Given the description of an element on the screen output the (x, y) to click on. 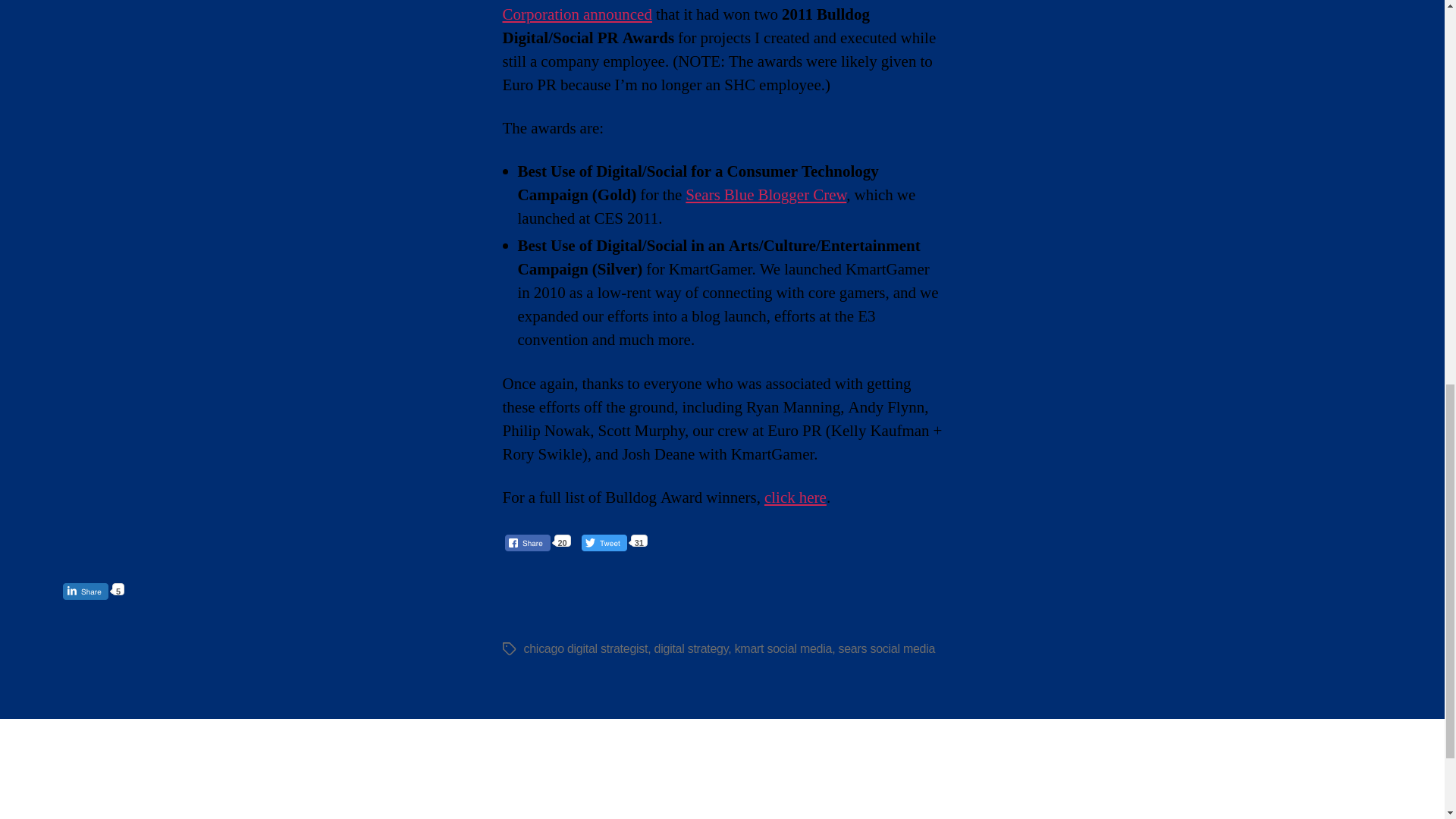
kmart social media (783, 647)
sears social media (887, 647)
Sears Blue Blogger Crew (765, 195)
chicago digital strategist (584, 647)
Sears Holdings Corporation announced (685, 12)
click here (795, 497)
digital strategy (691, 647)
